Given the description of an element on the screen output the (x, y) to click on. 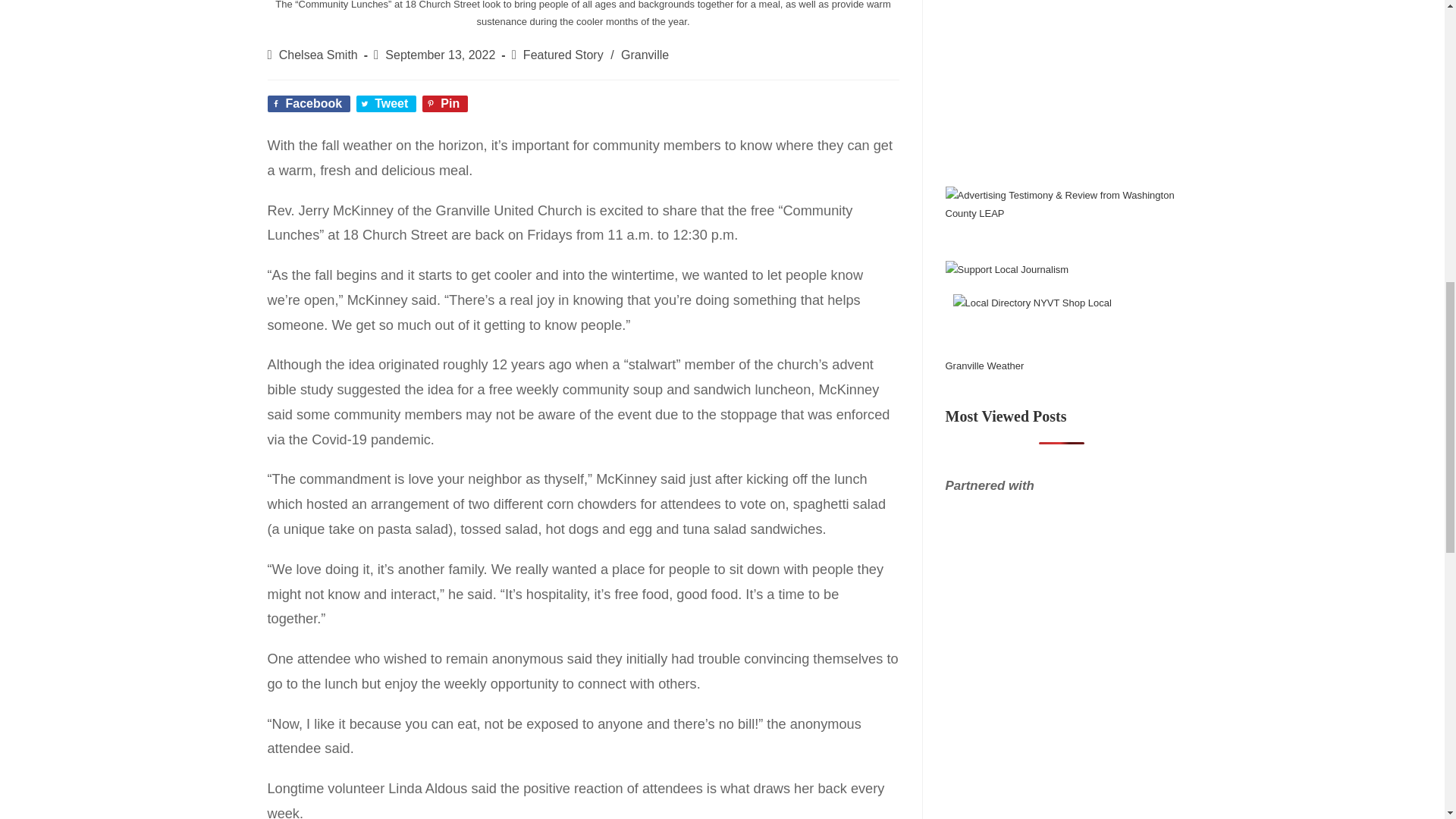
Share on Twitter (386, 103)
Share on Facebook (308, 103)
Share on Pinterest (444, 103)
Posts by Chelsea Smith (318, 54)
